Given the description of an element on the screen output the (x, y) to click on. 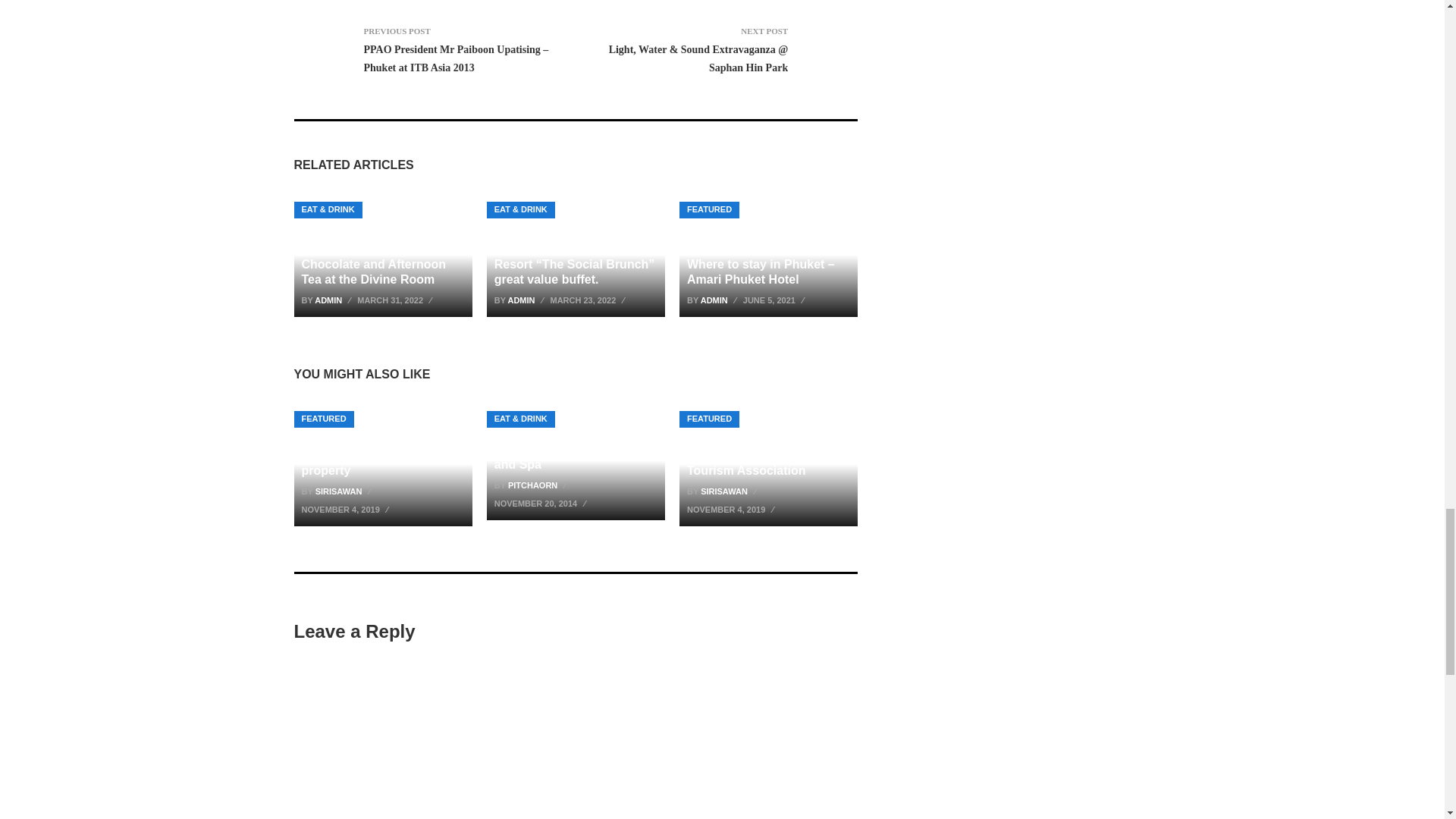
Thursday, November 20, 2014, 10:06 am (542, 503)
Saturday, June 5, 2021, 1:09 pm (775, 300)
Wednesday, March 23, 2022, 7:13 pm (589, 300)
Thursday, March 31, 2022, 6:47 pm (395, 300)
Monday, November 4, 2019, 4:03 pm (347, 509)
